Given the description of an element on the screen output the (x, y) to click on. 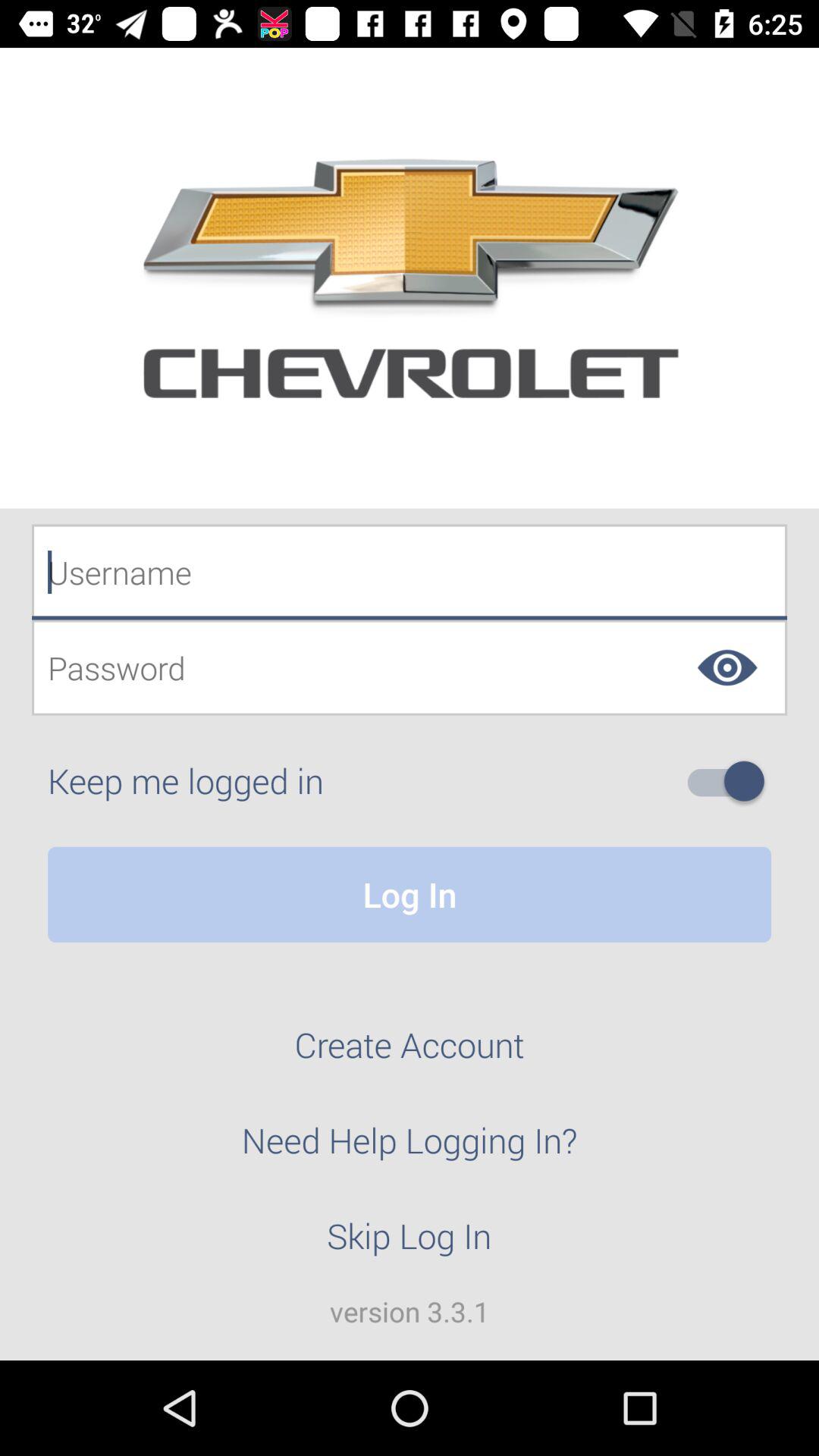
open icon on the right (731, 781)
